Given the description of an element on the screen output the (x, y) to click on. 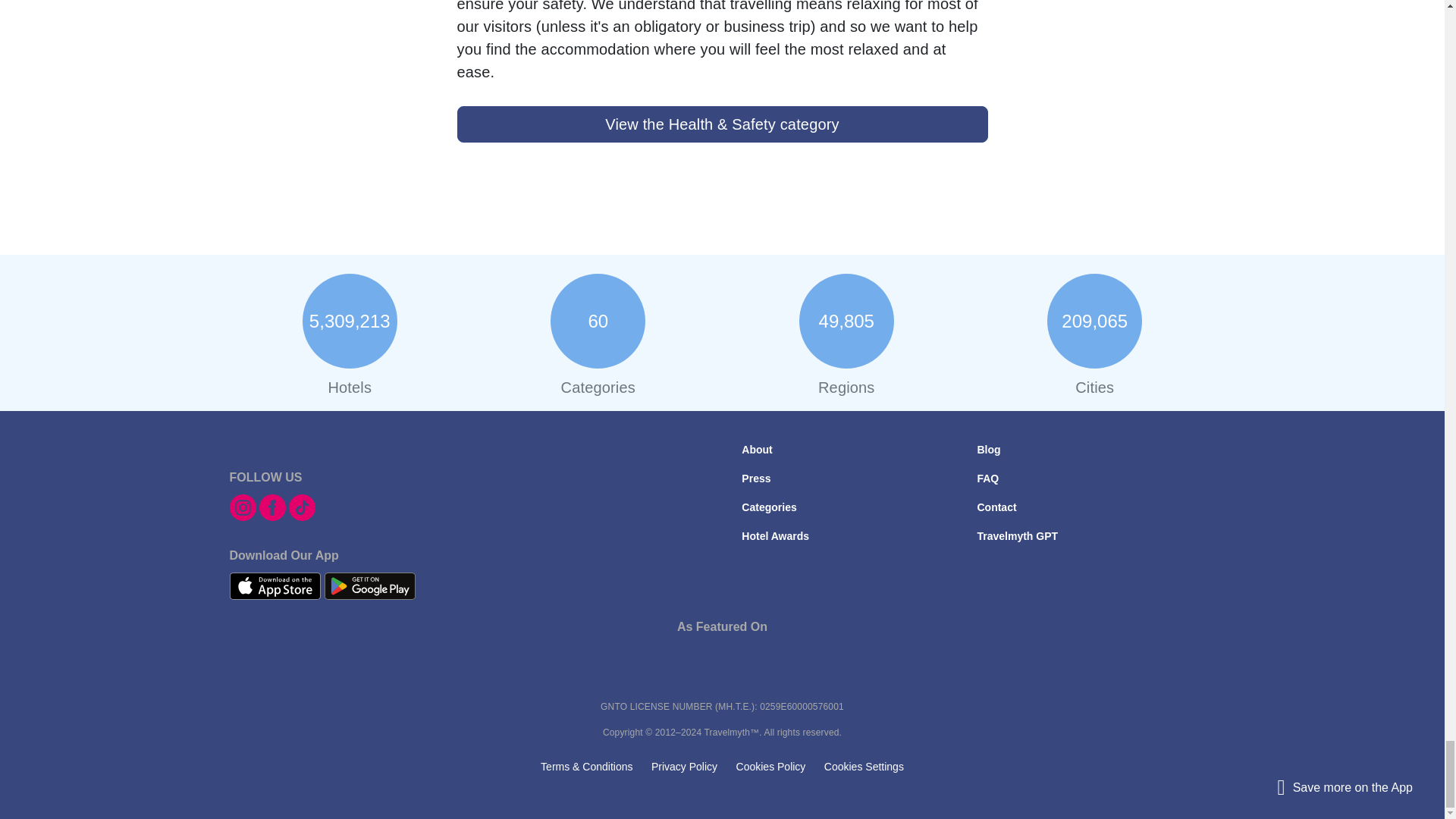
About (756, 449)
FAQ (987, 478)
Wiener Zeitung (835, 681)
Cookies Settings (863, 766)
Blog (988, 449)
Categories (768, 507)
L'OBS (501, 681)
Contact (996, 507)
the huffington post (668, 681)
The New York Times (334, 681)
Skift (1168, 681)
Hotel Awards (775, 535)
Cookies Policy (771, 766)
Press (755, 478)
Travelmyth GPT (1017, 535)
